Given the description of an element on the screen output the (x, y) to click on. 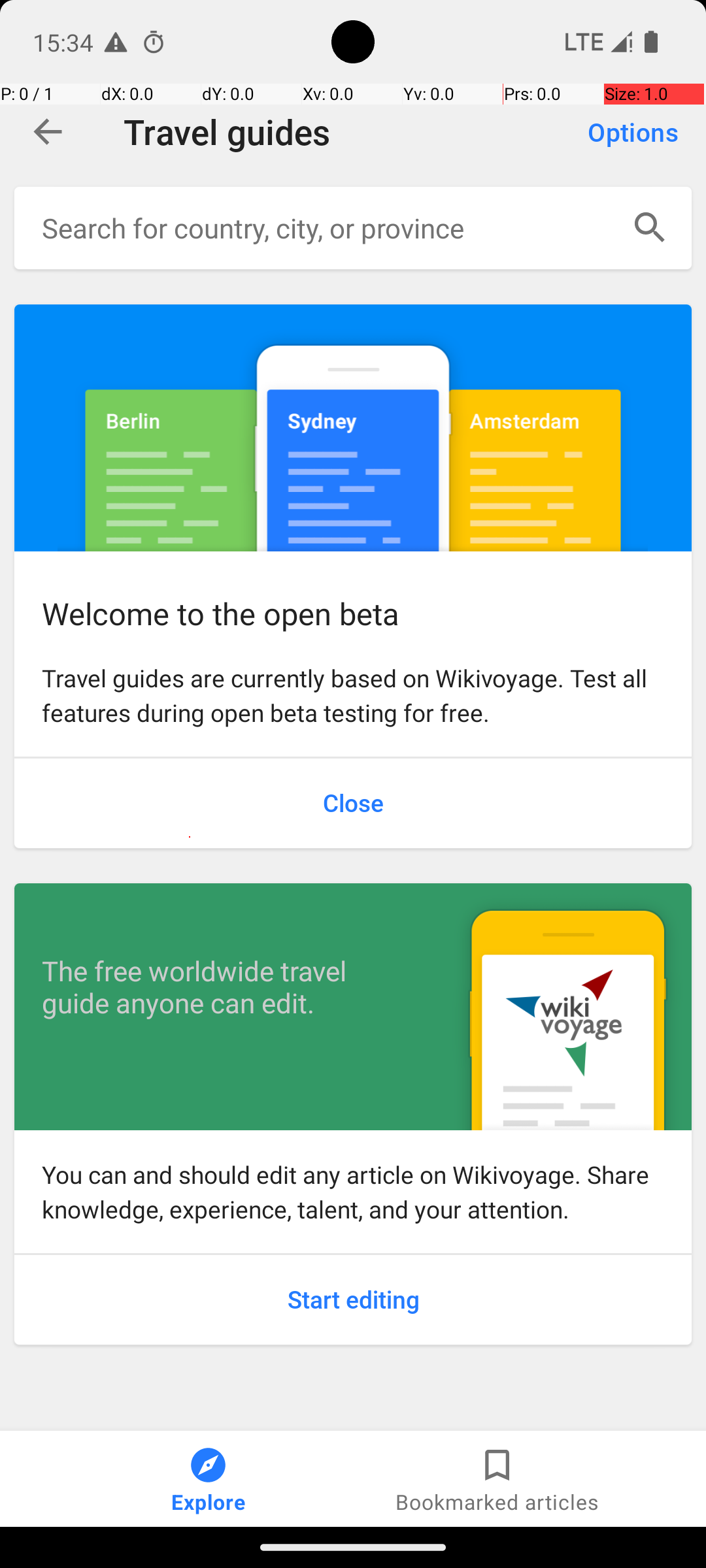
Travel guides Element type: android.widget.TextView (341, 131)
Options Element type: android.widget.TextView (633, 131)
Search for country, city, or province Element type: android.widget.TextView (324, 227)
Explore Element type: android.widget.FrameLayout (208, 1478)
Bookmarked articles Element type: android.widget.FrameLayout (497, 1478)
Welcome to the open beta Element type: android.widget.ImageView (352, 427)
Travel guides are currently based on Wikivoyage. Test all features during open beta testing for free. Element type: android.widget.TextView (352, 695)
The free worldwide travel guide anyone can edit. Element type: android.widget.TextView (225, 986)
You can and should edit any article on Wikivoyage. Share knowledge, experience, talent, and your attention. Element type: android.widget.TextView (352, 1191)
Start editing Element type: android.widget.TextView (352, 1299)
